Given the description of an element on the screen output the (x, y) to click on. 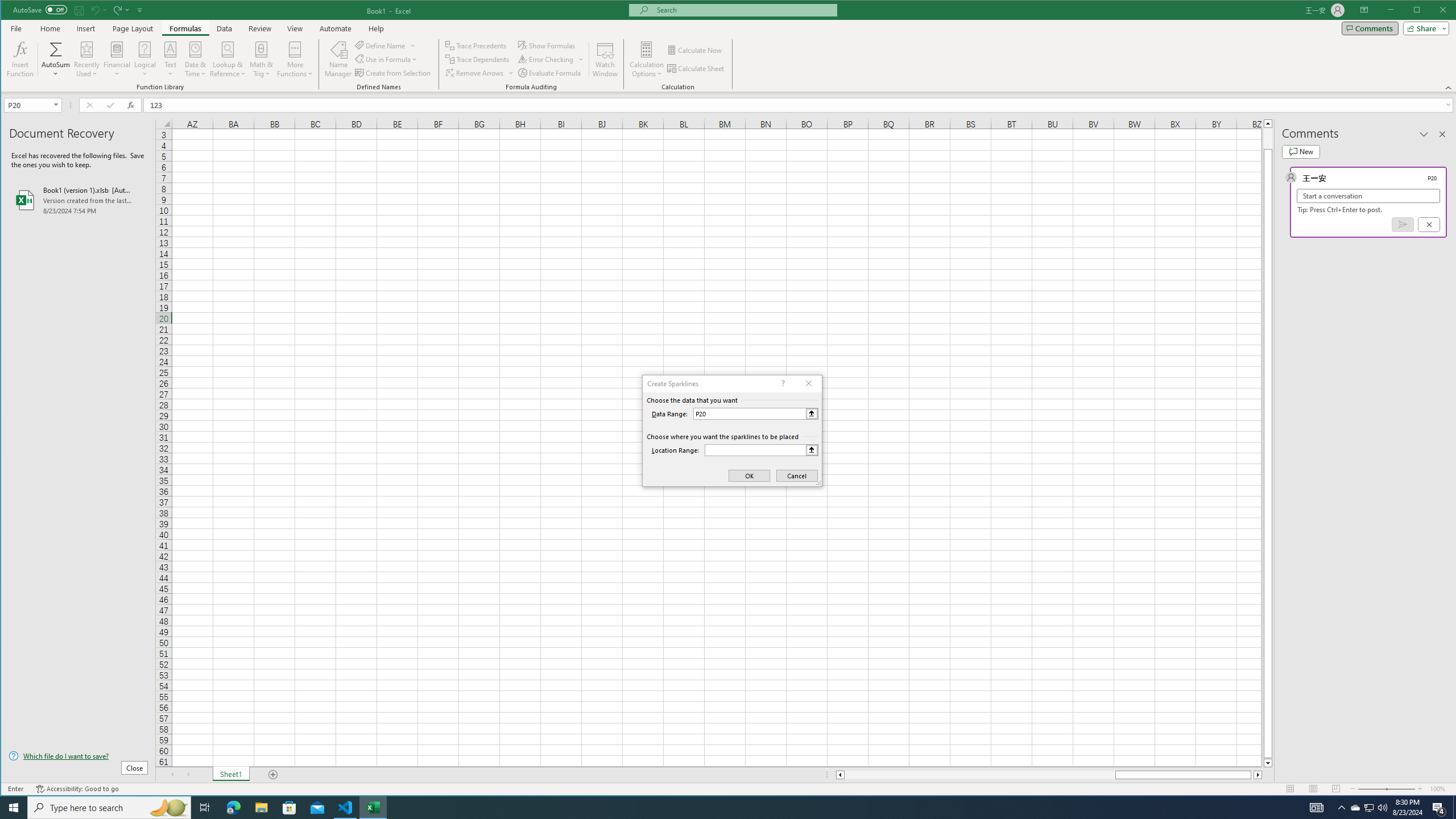
Page up (1267, 138)
Post comment (Ctrl + Enter) (1402, 224)
Lookup & Reference (227, 59)
Calculation Options (646, 59)
Financial (116, 59)
Cancel (1428, 224)
Use in Formula (386, 59)
